Given the description of an element on the screen output the (x, y) to click on. 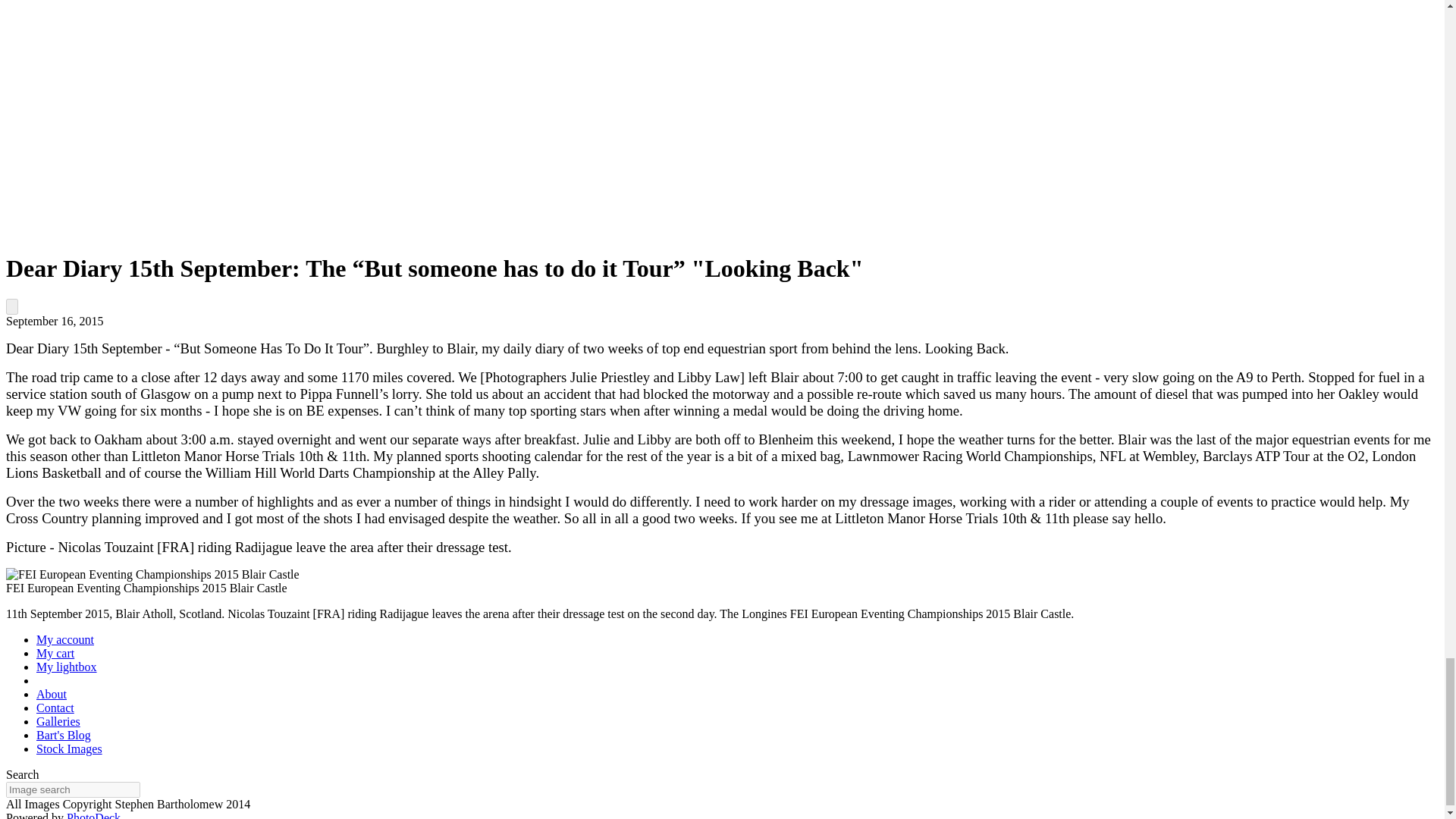
Stock Images (68, 748)
Contact (55, 707)
Galleries (58, 721)
My cart (55, 653)
My lightbox (66, 666)
My account (65, 639)
About (51, 694)
Bart's Blog (63, 735)
